Given the description of an element on the screen output the (x, y) to click on. 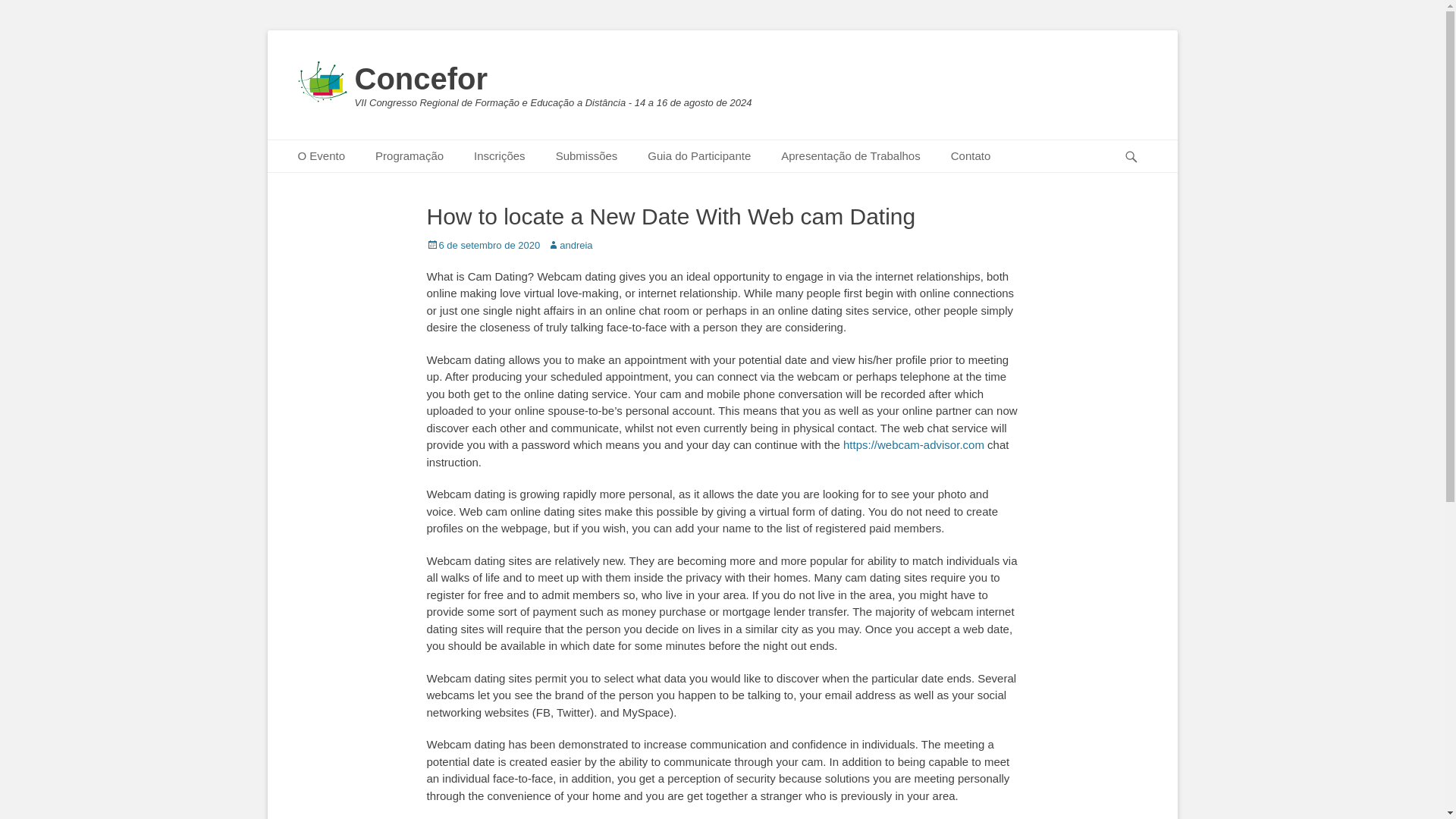
O Evento (320, 156)
O Evento (320, 156)
Guia do Participante (698, 156)
andreia (569, 244)
Concefor (421, 78)
6 de setembro de 2020 (483, 244)
Contato (971, 156)
